Given the description of an element on the screen output the (x, y) to click on. 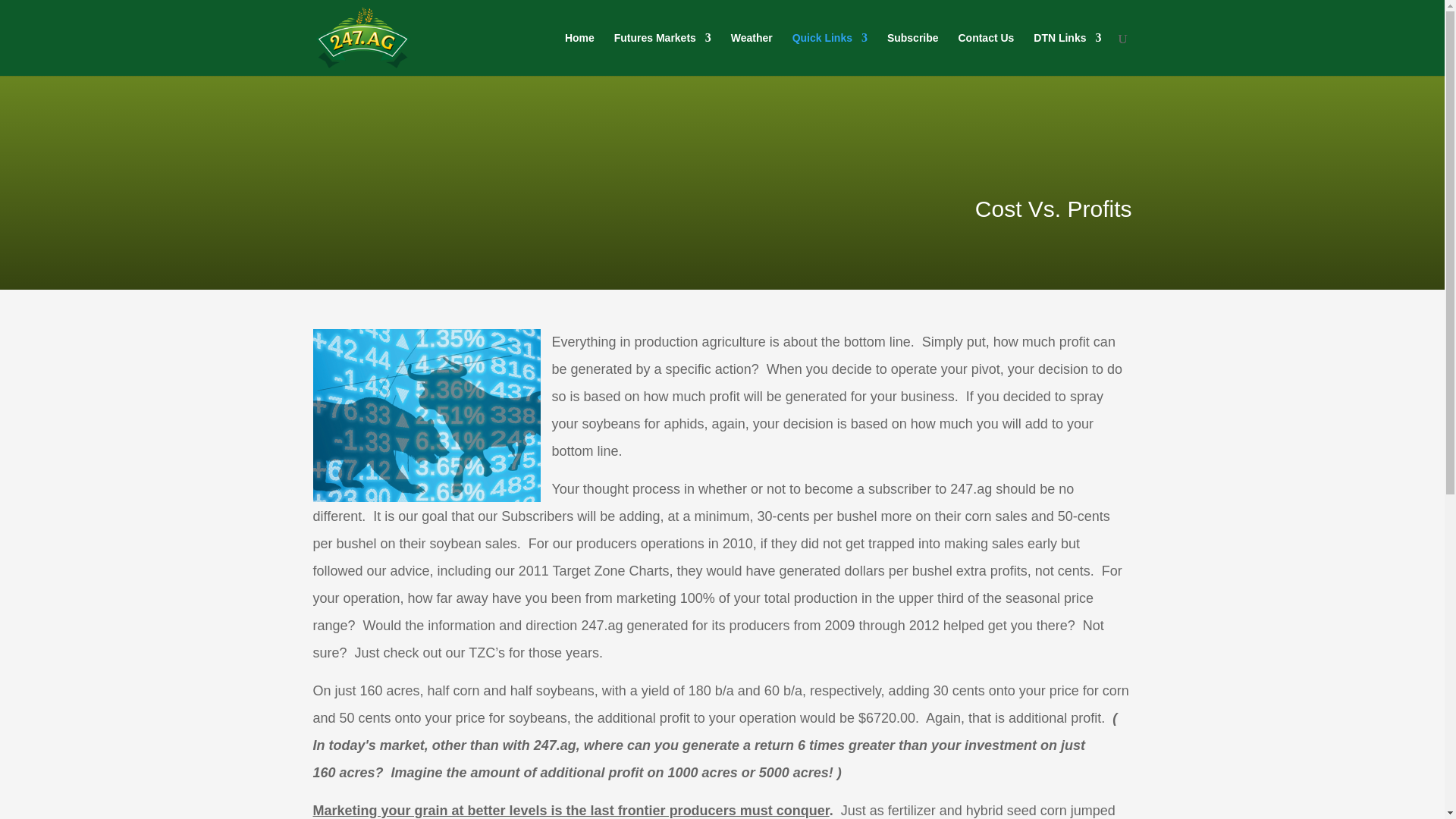
Futures Markets (662, 49)
Weather (751, 49)
Quick Links (829, 49)
Subscribe (912, 49)
DTN Links (1066, 49)
Contact Us (985, 49)
